Given the description of an element on the screen output the (x, y) to click on. 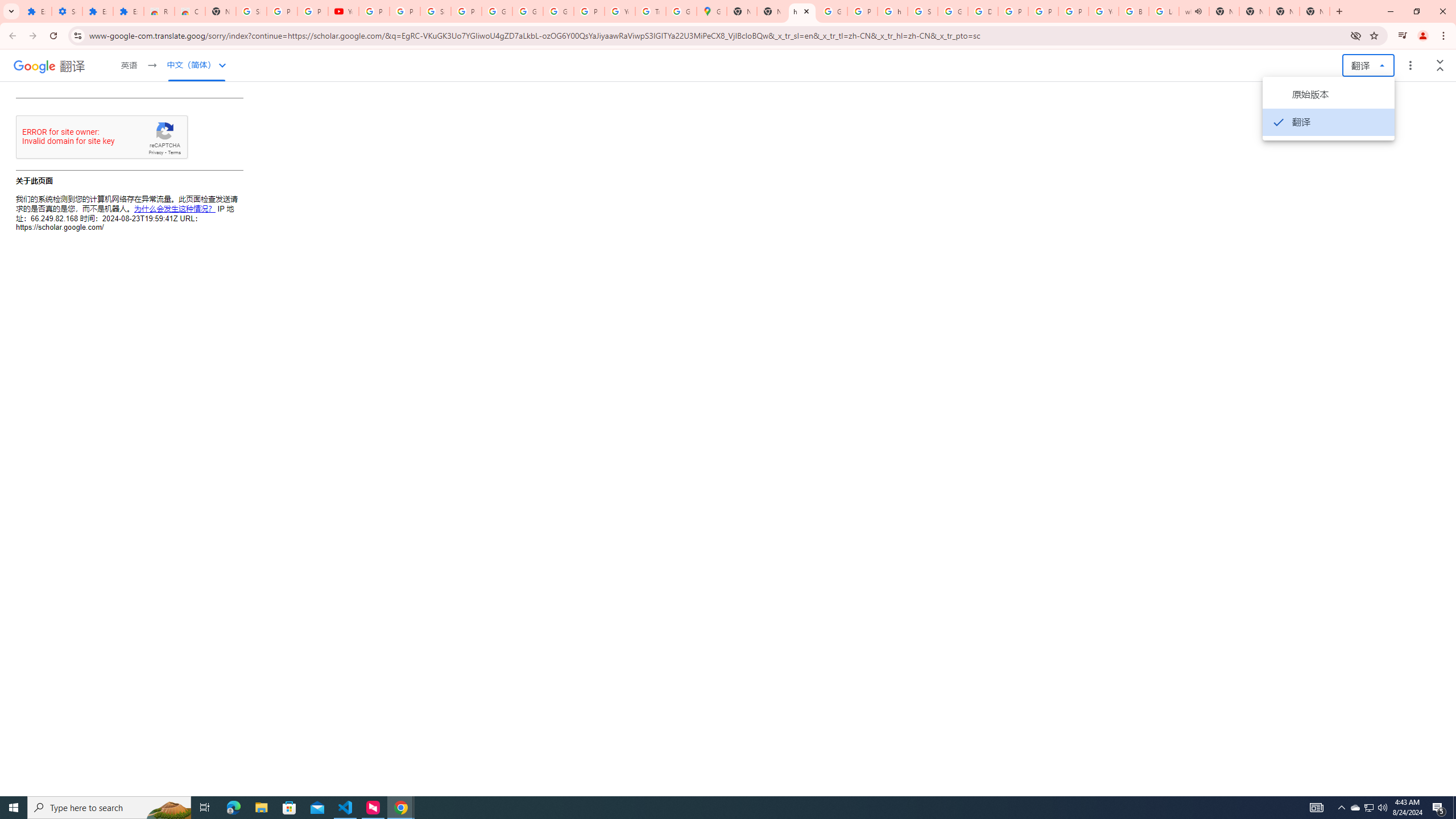
Google (34, 65)
New Tab (220, 11)
